Given the description of an element on the screen output the (x, y) to click on. 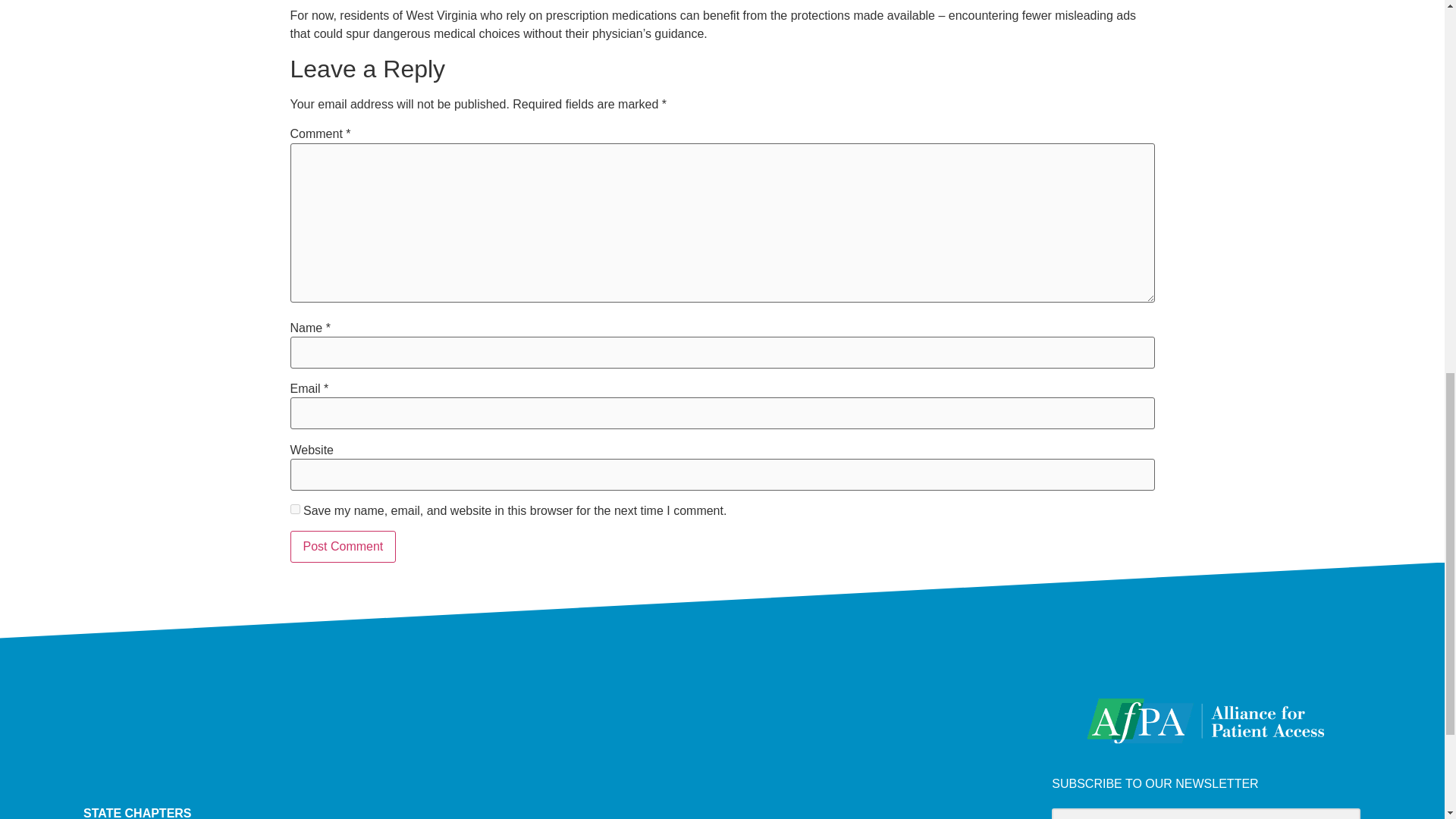
yes (294, 509)
STATE CHAPTERS (559, 810)
Post Comment (342, 546)
Post Comment (342, 546)
